Given the description of an element on the screen output the (x, y) to click on. 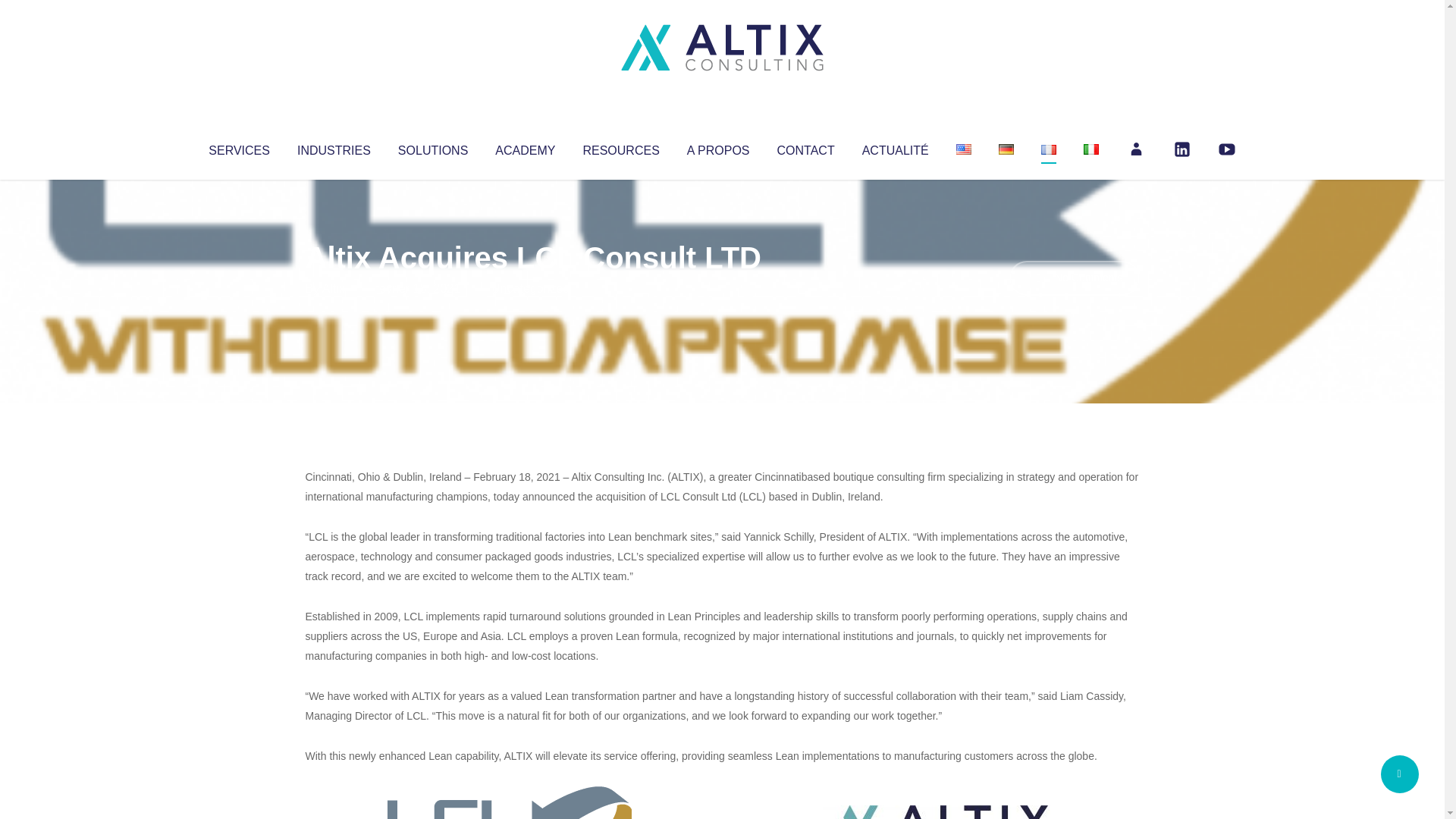
No Comments (1073, 278)
ACADEMY (524, 146)
RESOURCES (620, 146)
SOLUTIONS (432, 146)
INDUSTRIES (334, 146)
Articles par Altix (333, 287)
SERVICES (238, 146)
A PROPOS (718, 146)
Uncategorized (530, 287)
Altix (333, 287)
